Given the description of an element on the screen output the (x, y) to click on. 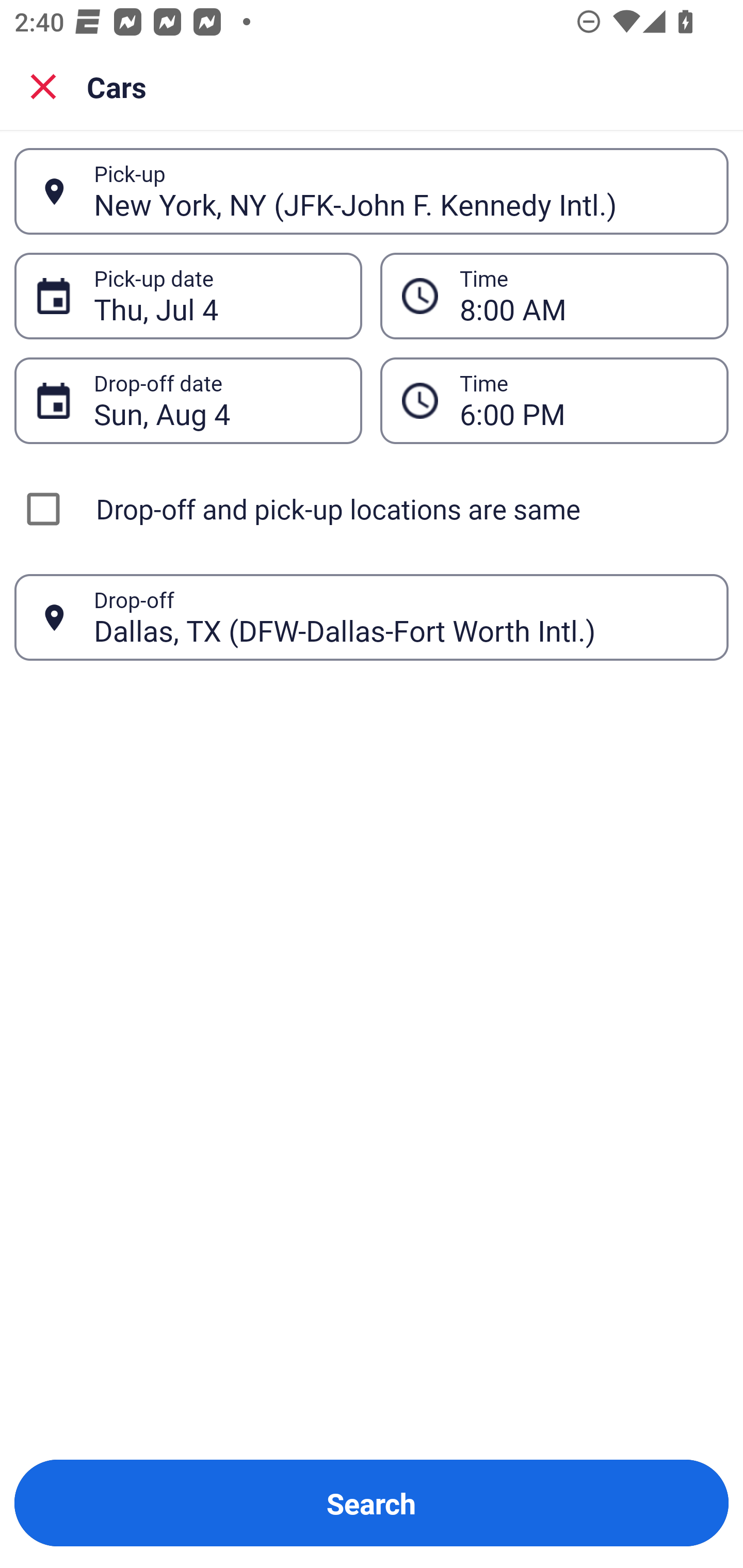
Close search screen (43, 86)
New York, NY (JFK-John F. Kennedy Intl.) Pick-up (371, 191)
New York, NY (JFK-John F. Kennedy Intl.) (399, 191)
Thu, Jul 4 Pick-up date (188, 295)
8:00 AM (554, 295)
Thu, Jul 4 (216, 296)
8:00 AM (582, 296)
Sun, Aug 4 Drop-off date (188, 400)
6:00 PM (554, 400)
Sun, Aug 4 (216, 400)
6:00 PM (582, 400)
Drop-off and pick-up locations are same (371, 508)
Dallas, TX (DFW-Dallas-Fort Worth Intl.) Drop-off (371, 616)
Dallas, TX (DFW-Dallas-Fort Worth Intl.) (399, 616)
Search Button Search (371, 1502)
